Given the description of an element on the screen output the (x, y) to click on. 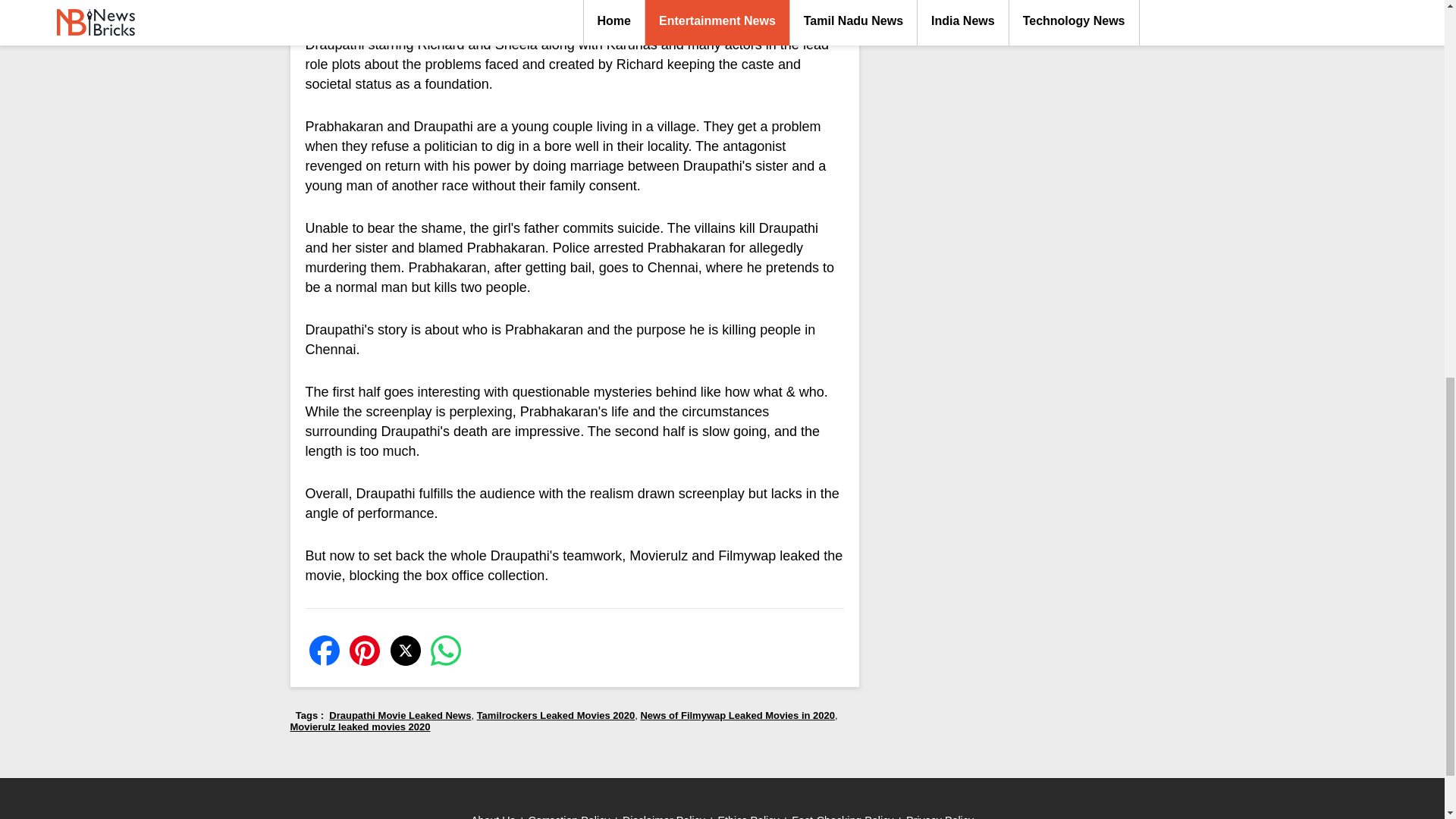
Draupathi Movie Leaked News (399, 715)
Tamilrockers Leaked Movies 2020 (555, 715)
News of Filmywap Leaked Movies in 2020 (737, 715)
